Given the description of an element on the screen output the (x, y) to click on. 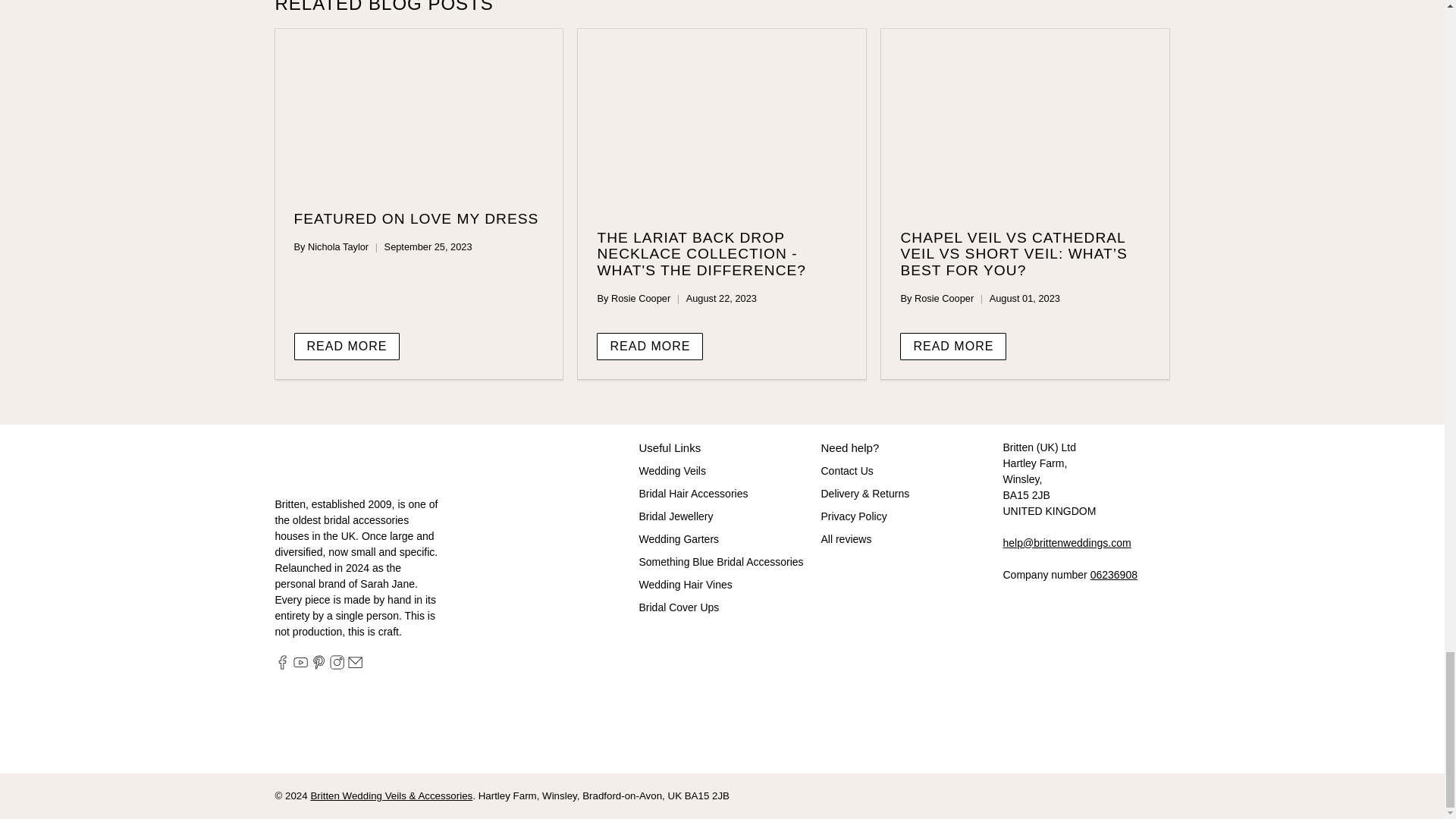
Featured on Love My Dress (416, 218)
Featured on Love My Dress (419, 111)
